Given the description of an element on the screen output the (x, y) to click on. 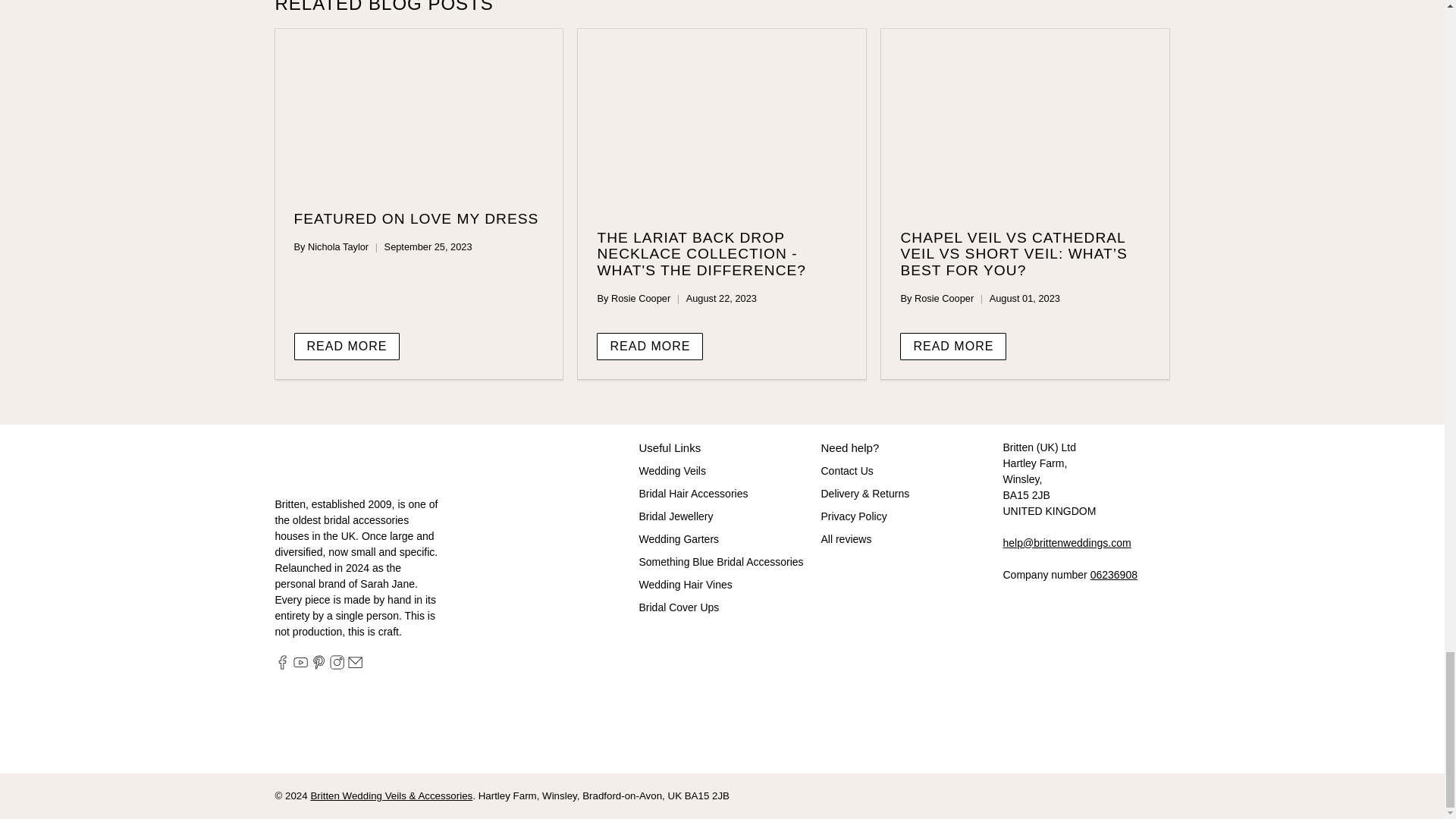
Featured on Love My Dress (416, 218)
Featured on Love My Dress (419, 111)
